Given the description of an element on the screen output the (x, y) to click on. 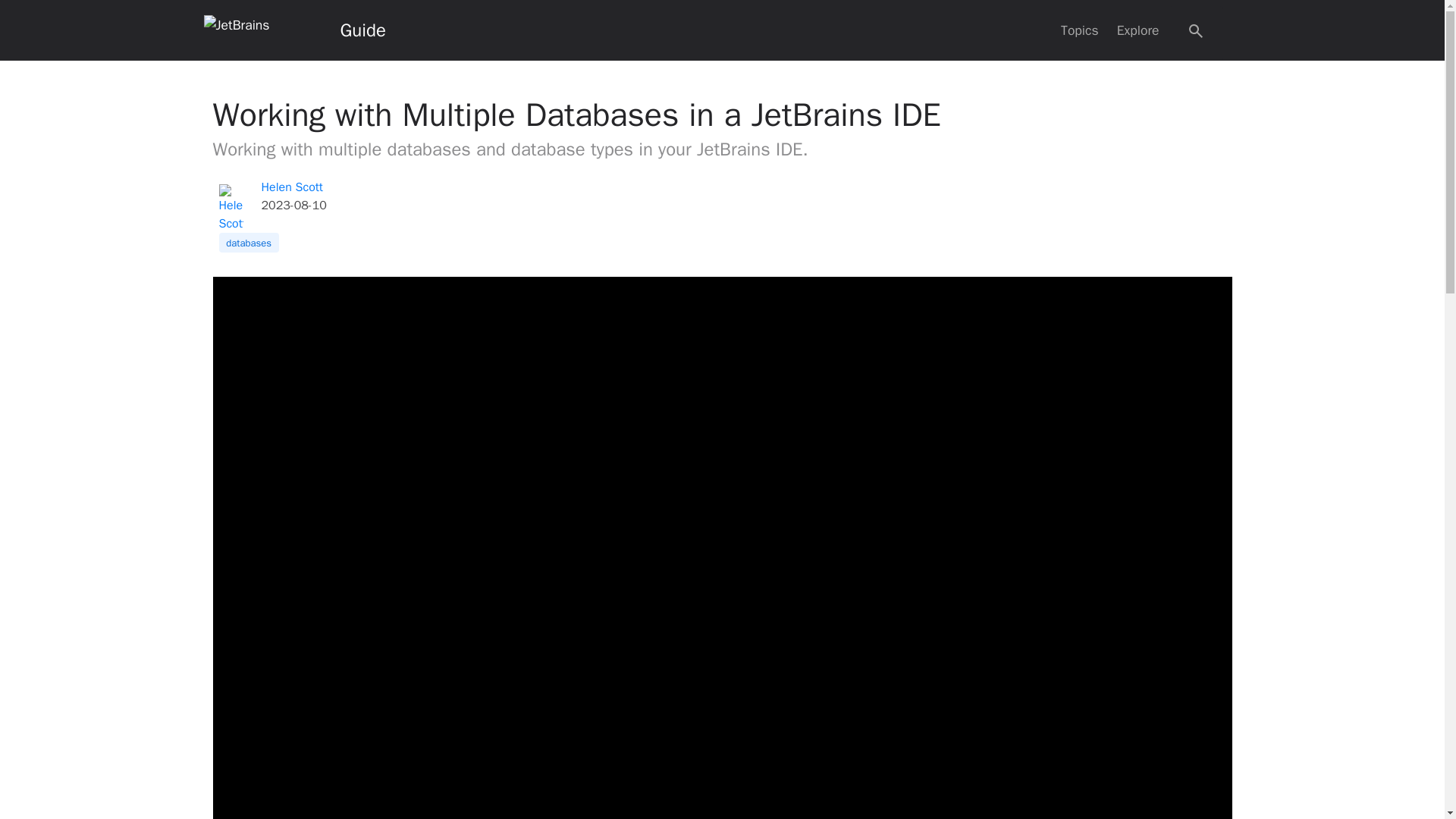
Helen Scott (290, 186)
Guide (362, 30)
Topics (1079, 30)
databases (248, 242)
Explore (1138, 30)
